Given the description of an element on the screen output the (x, y) to click on. 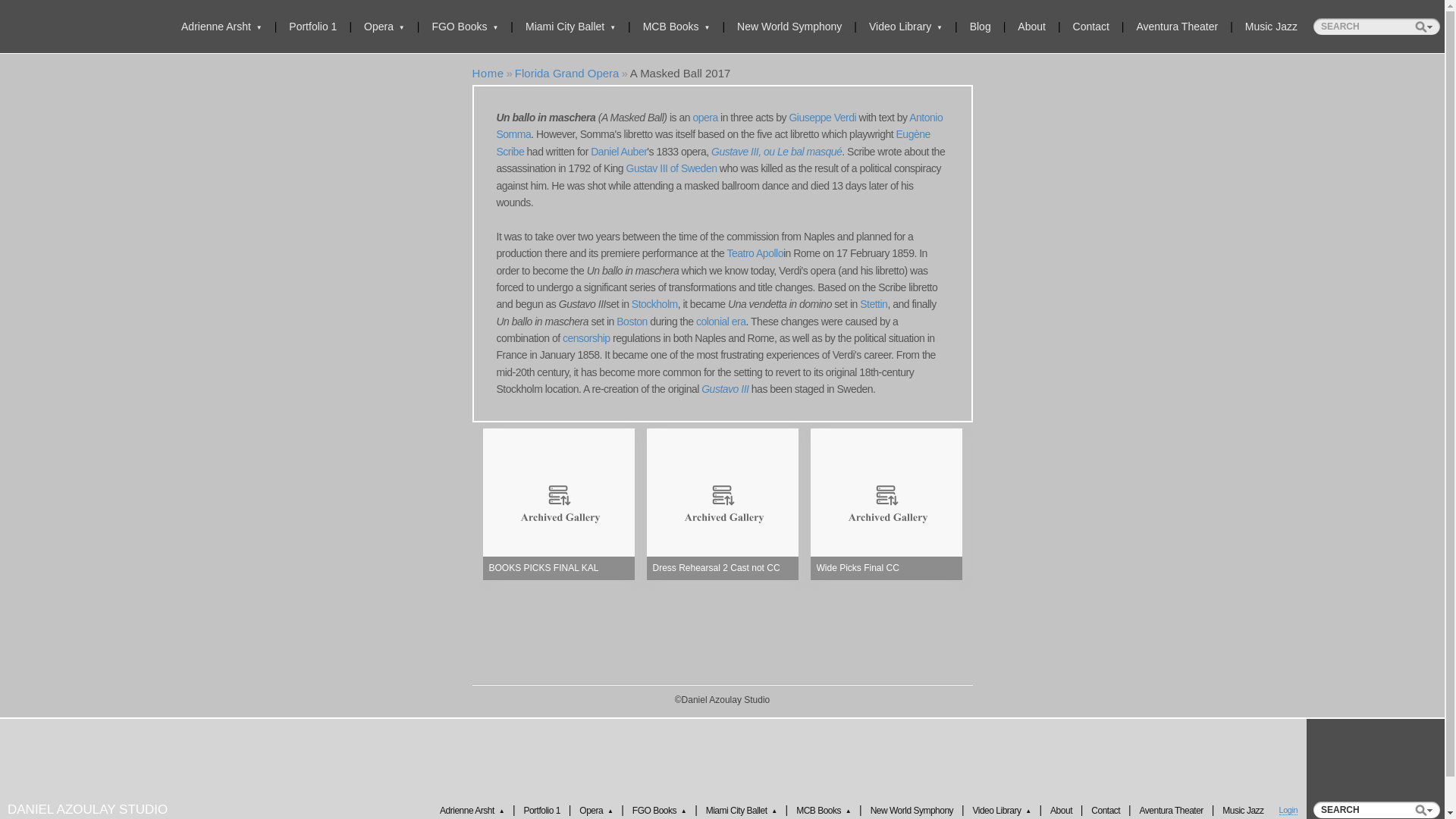
Daniel Azoulay Studio (487, 72)
SEARCH (1376, 809)
SEARCH (1376, 26)
SEARCH (1376, 26)
Portfolio 1 (312, 26)
Daniel Azoulay Studio (87, 808)
SEARCH (1376, 809)
